Given the description of an element on the screen output the (x, y) to click on. 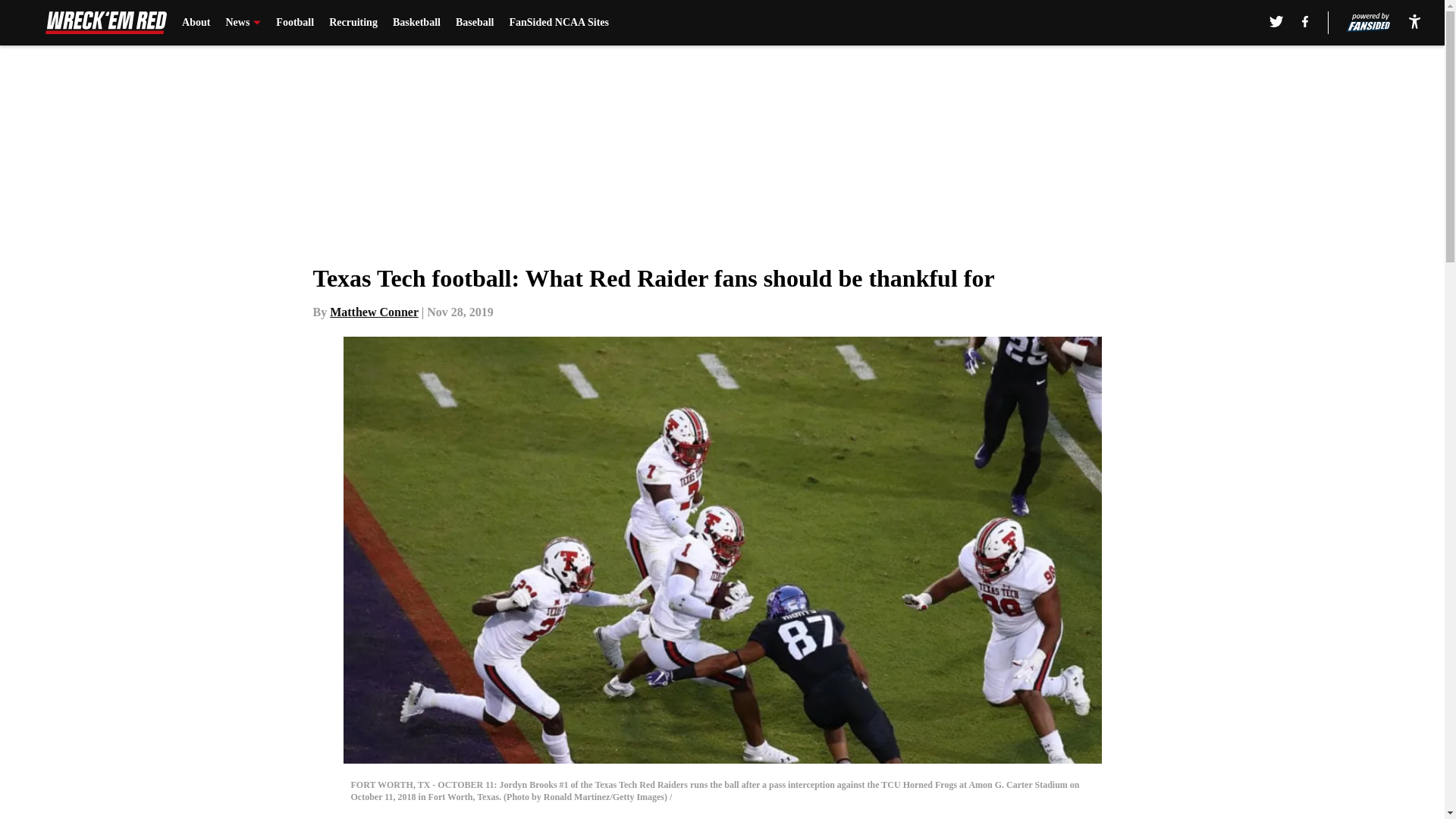
Recruiting (353, 22)
Football (295, 22)
Basketball (417, 22)
About (195, 22)
FanSided NCAA Sites (558, 22)
Matthew Conner (374, 311)
Baseball (475, 22)
